Given the description of an element on the screen output the (x, y) to click on. 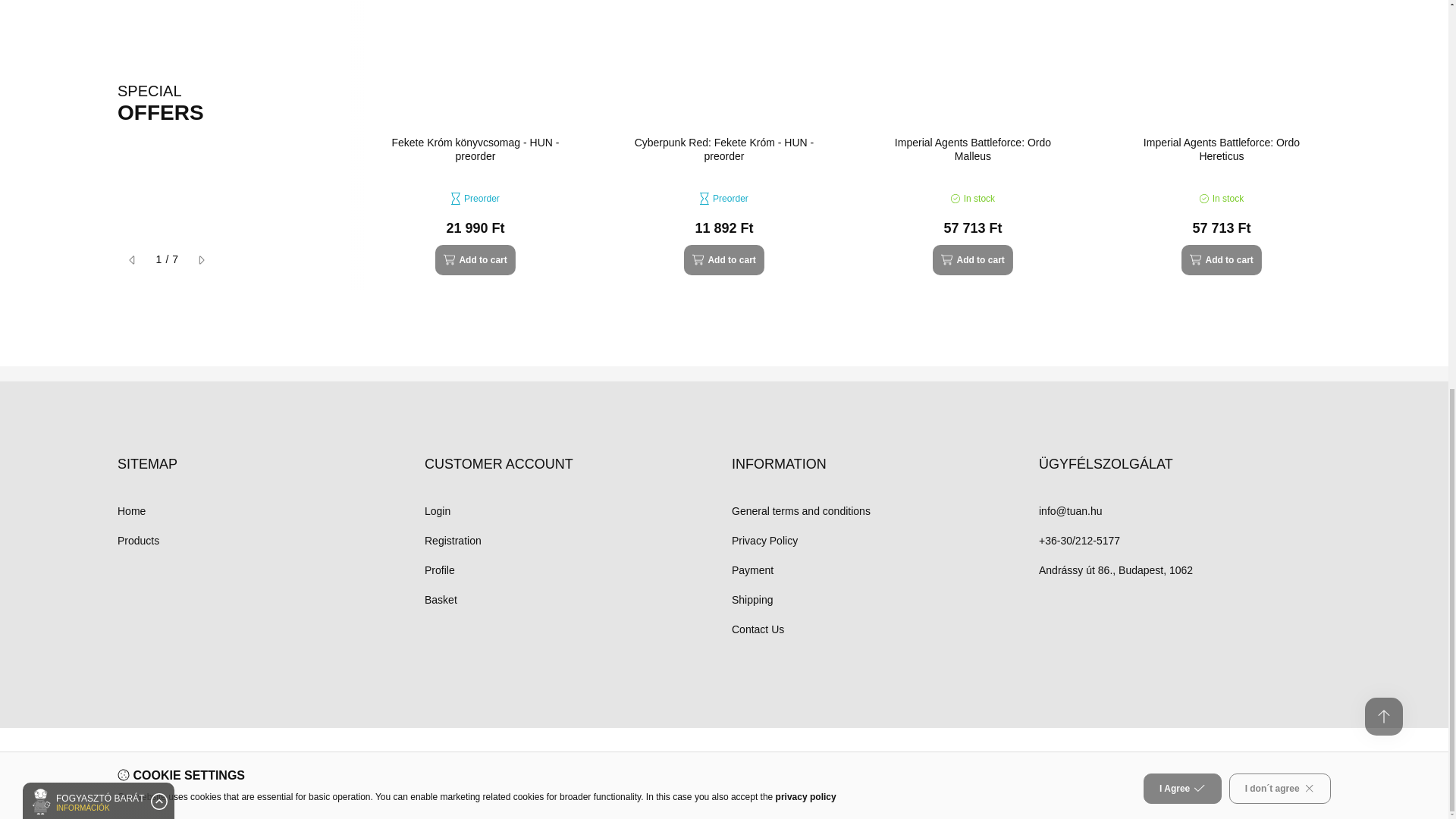
Imperial Agents Battleforce: Ordo Malleus (973, 60)
Imperial Agents Battleforce: Ordo Malleus (973, 148)
Imperial Agents Battleforce: Ordo Hereticus (1221, 148)
Imperial Agents Battleforce: Ordo Hereticus (1221, 60)
